Given the description of an element on the screen output the (x, y) to click on. 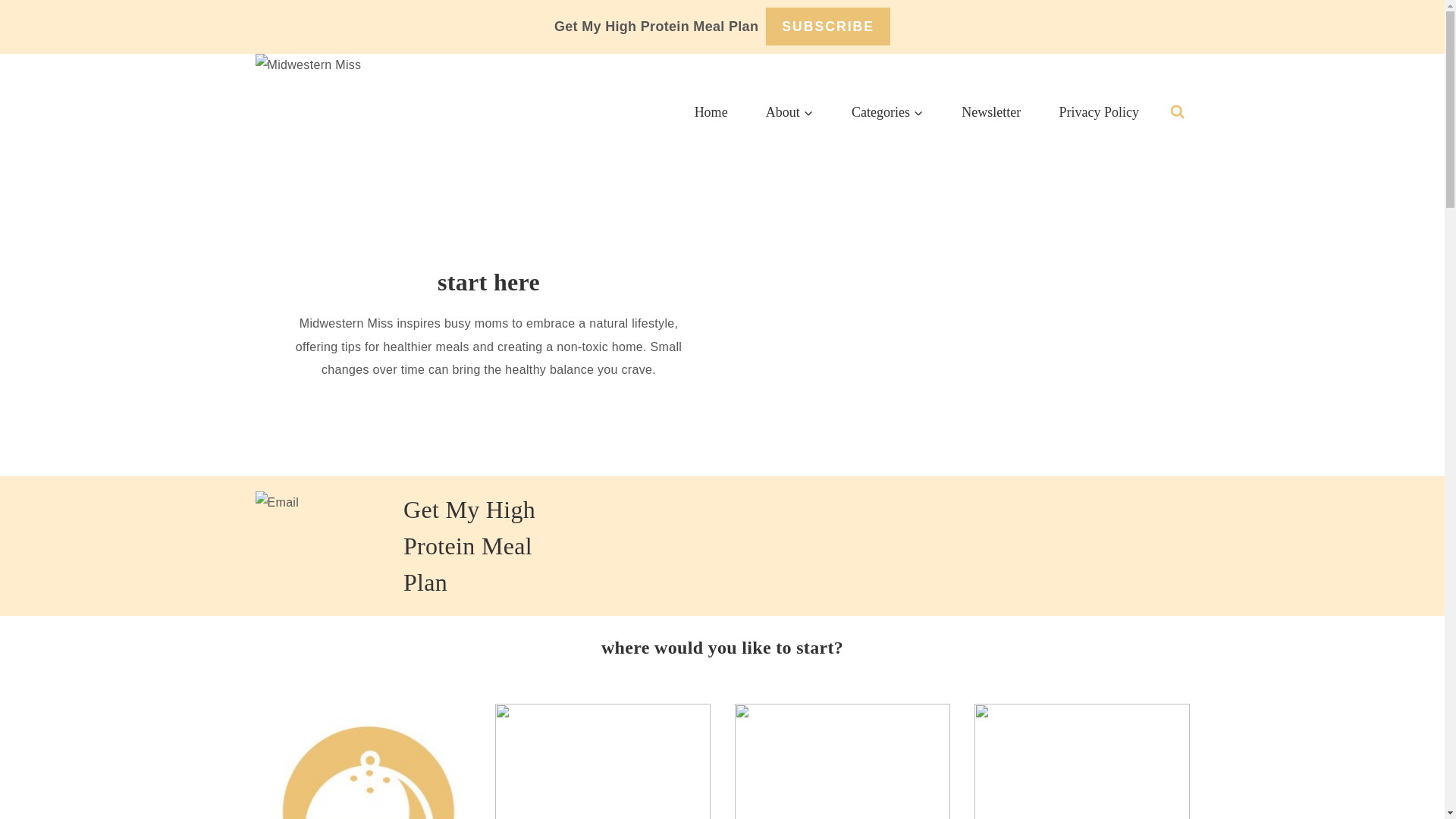
Newsletter (990, 111)
Home (710, 111)
Categories (887, 111)
Privacy Policy (1098, 111)
About (789, 111)
SUBSCRIBE (827, 26)
